Given the description of an element on the screen output the (x, y) to click on. 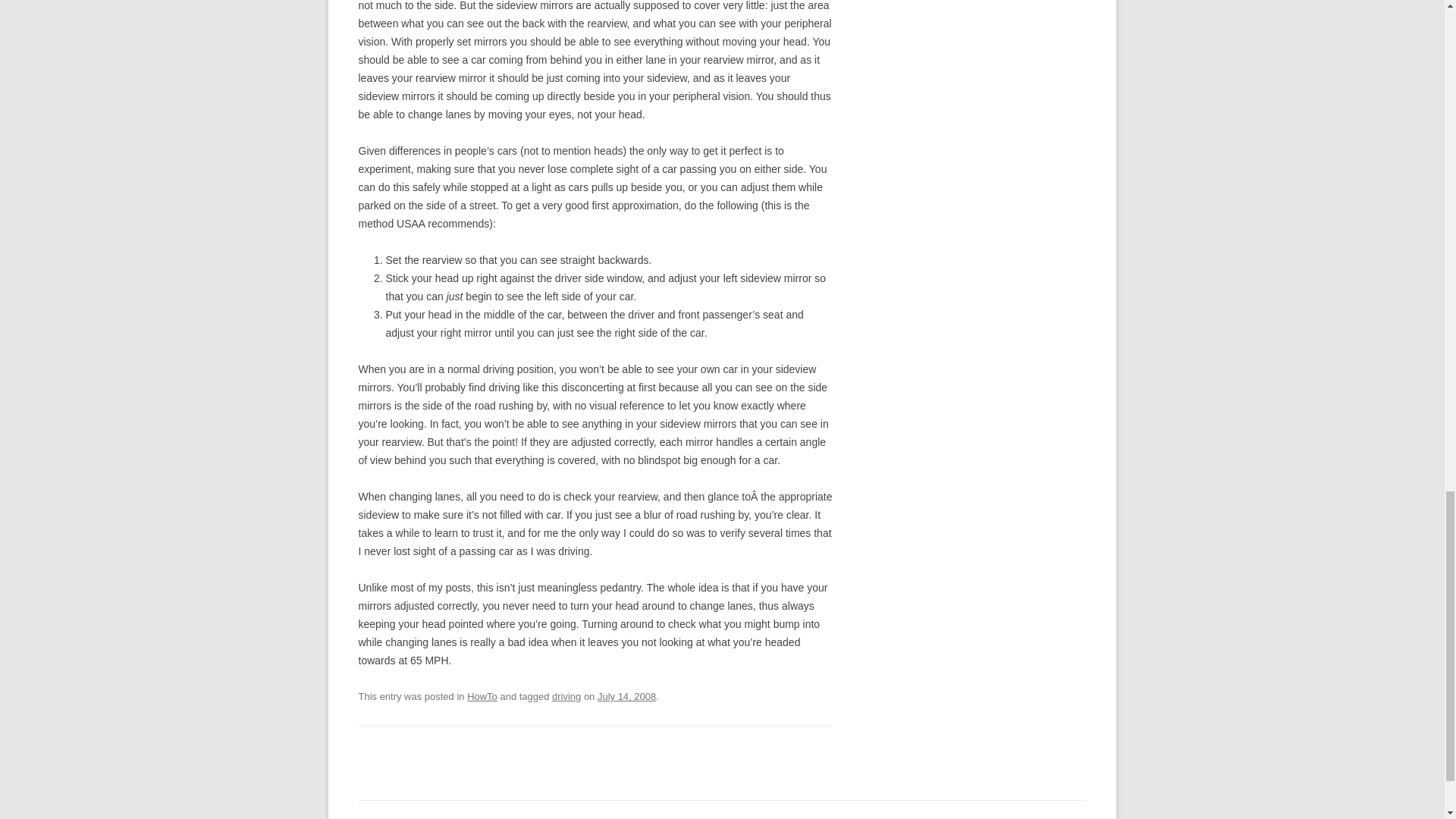
HowTo (482, 696)
09:00 (626, 696)
driving (565, 696)
July 14, 2008 (626, 696)
